Given the description of an element on the screen output the (x, y) to click on. 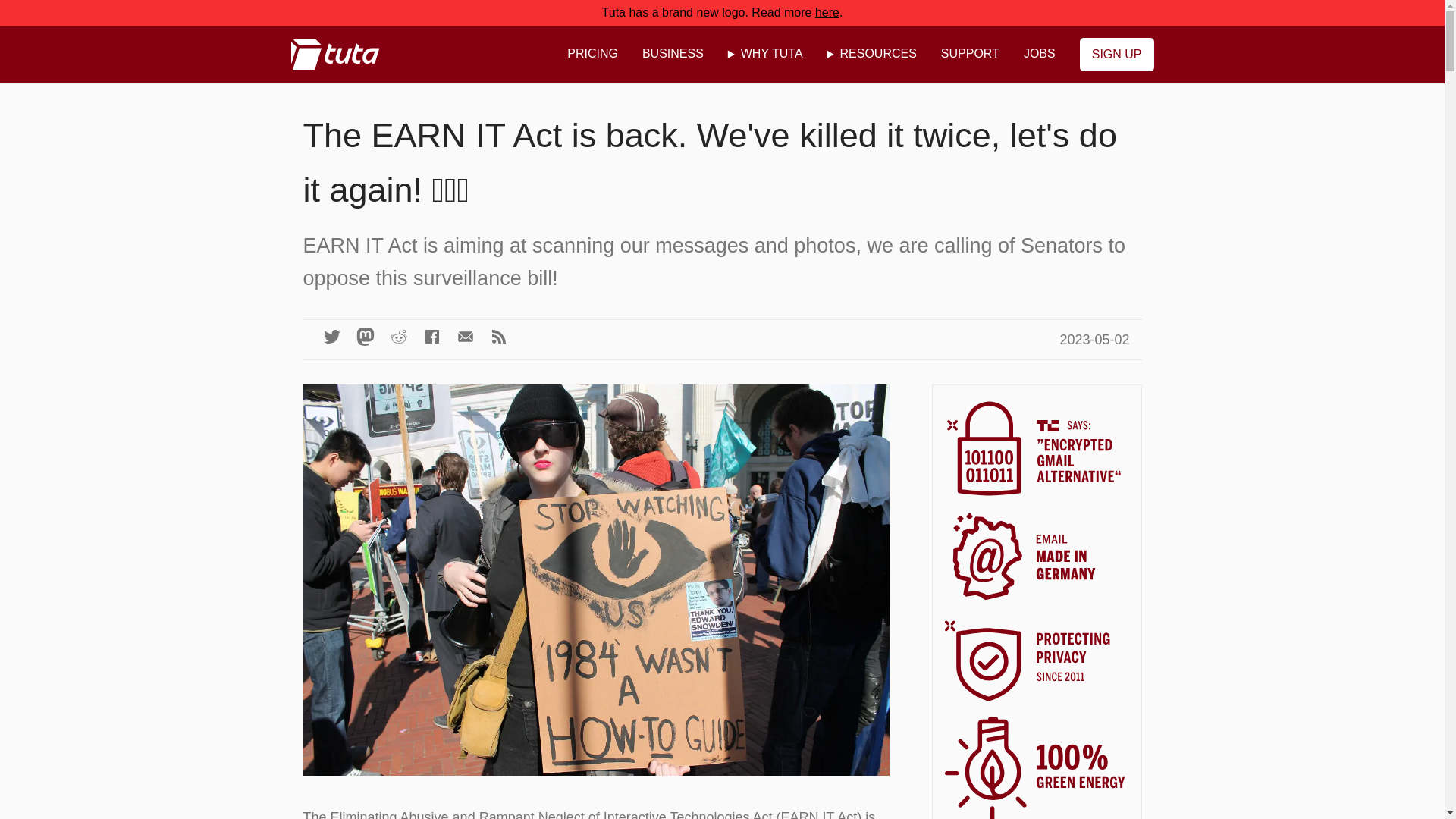
SIGN UP (1117, 54)
JOBS (1039, 54)
PRICING (592, 54)
Tutanota (338, 60)
here (827, 11)
SUPPORT (969, 54)
BUSINESS (673, 54)
